Given the description of an element on the screen output the (x, y) to click on. 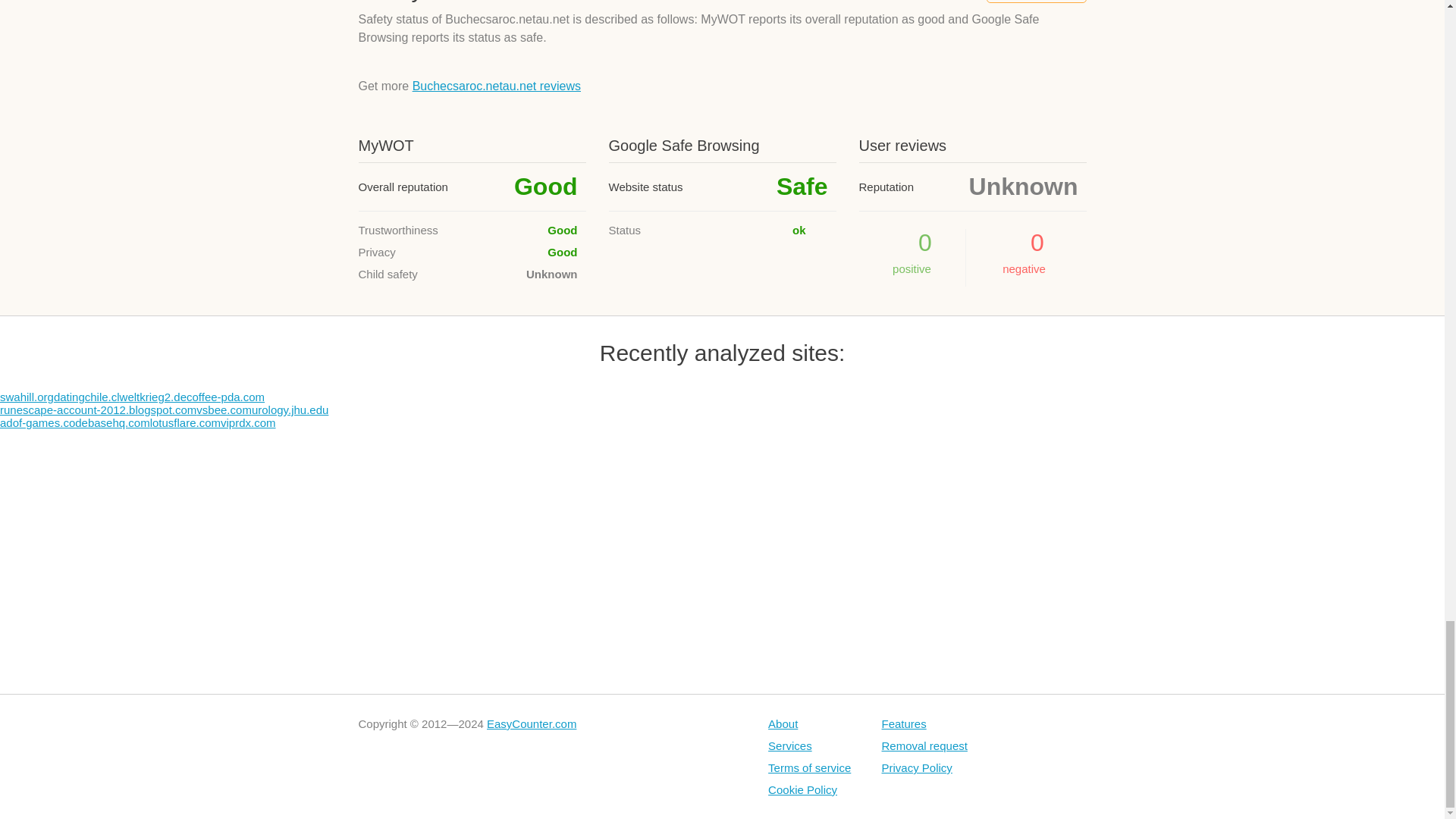
datingchile.cl (86, 396)
Buchecsaroc.netau.net reviews (496, 85)
swahill.org (26, 396)
Compare it to ... (1036, 1)
